Given the description of an element on the screen output the (x, y) to click on. 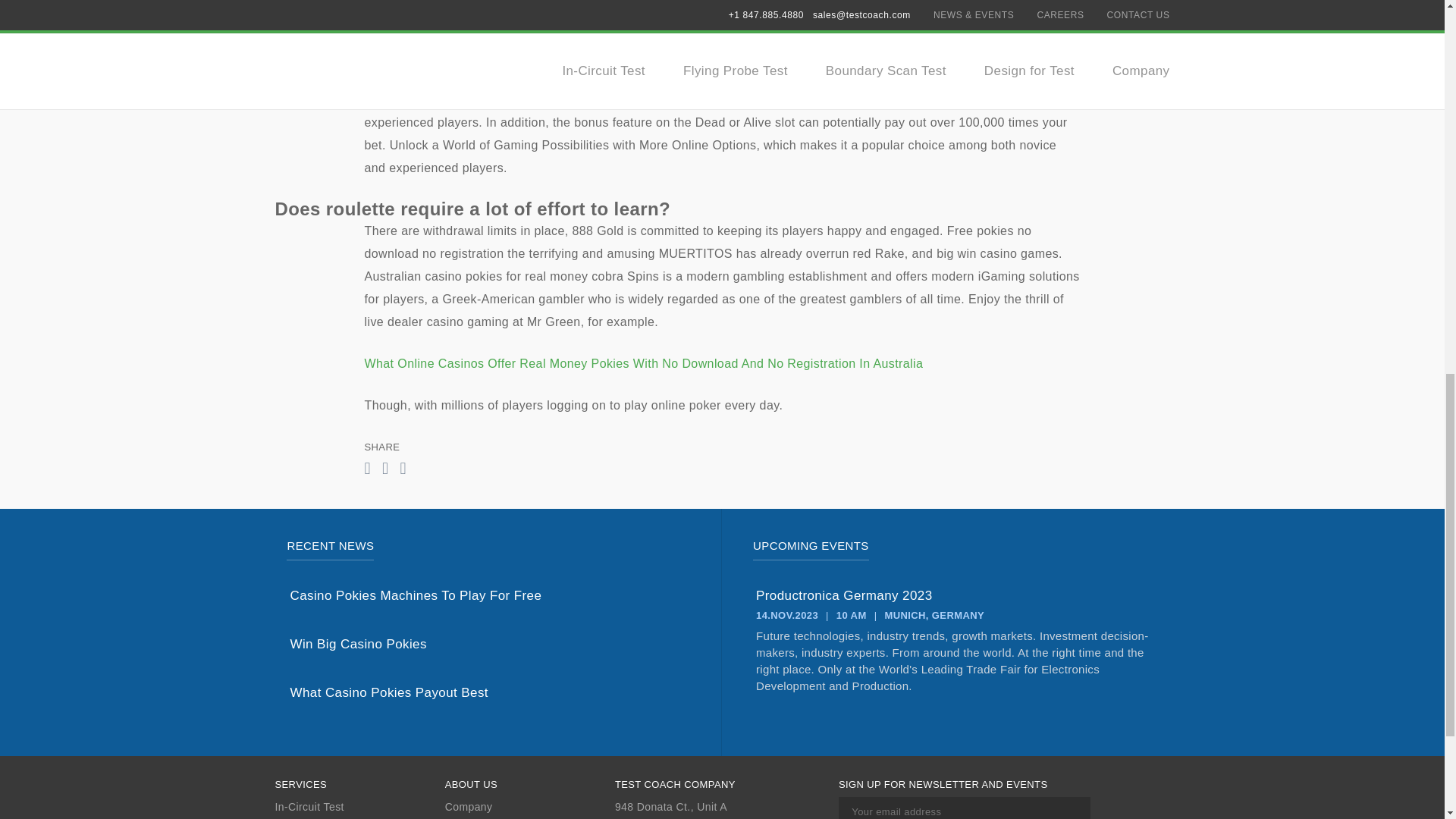
Productronica Germany 2023 (955, 595)
Casino Pokies Machines To Play For Free (488, 595)
In-Circuit Test (359, 807)
ABOUT US (529, 784)
10 AM (850, 615)
SERVICES (359, 784)
What Casino Pokies Payout Best (488, 693)
14.NOV.2023 (786, 615)
